Given the description of an element on the screen output the (x, y) to click on. 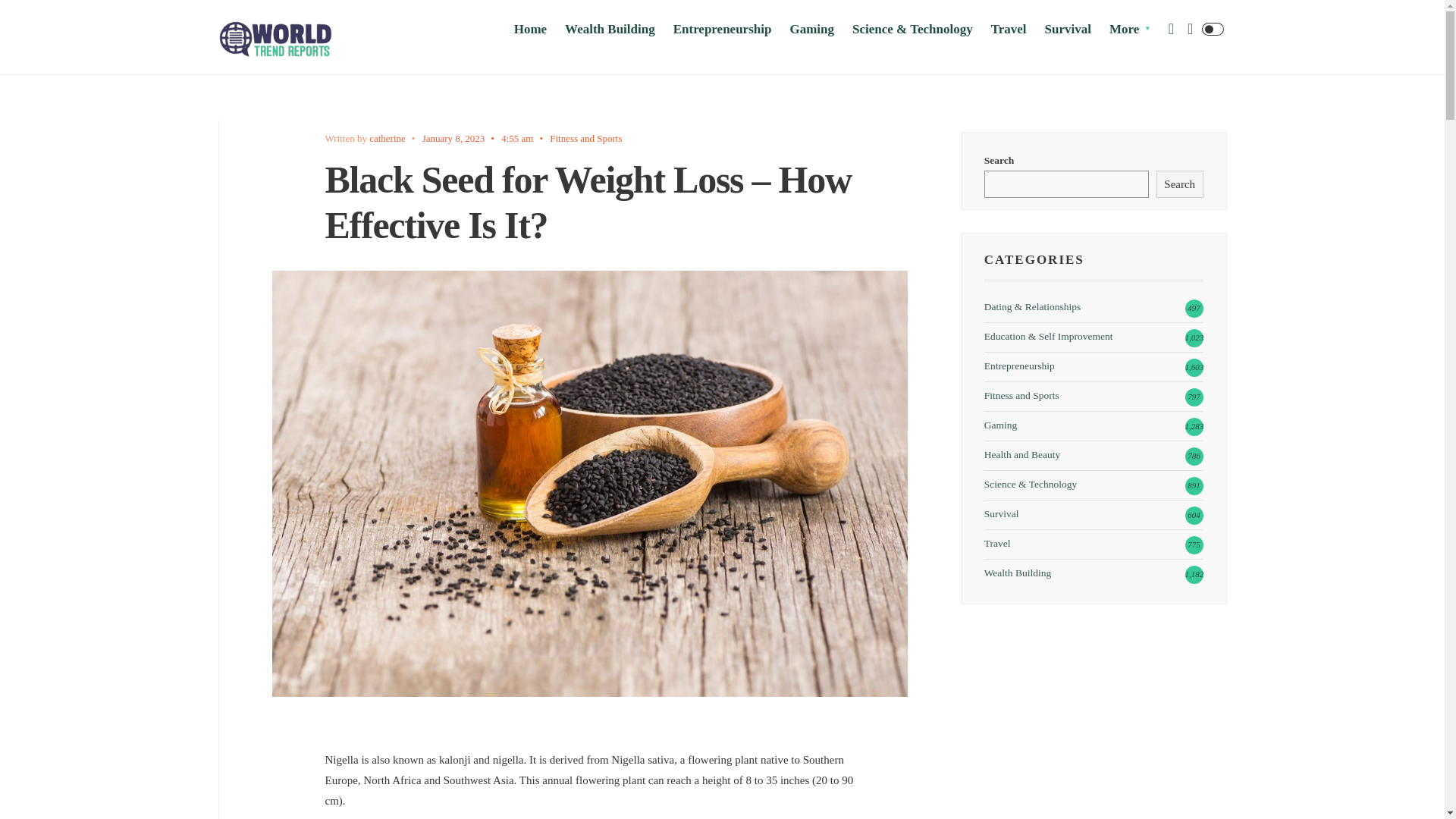
Fitness and Sports (585, 138)
More (1129, 28)
Entrepreneurship (721, 28)
Survival (1067, 28)
Posts by catherine (387, 138)
Travel (1008, 28)
Wealth Building (609, 28)
catherine (387, 138)
Home (530, 28)
Gaming (811, 28)
